Given the description of an element on the screen output the (x, y) to click on. 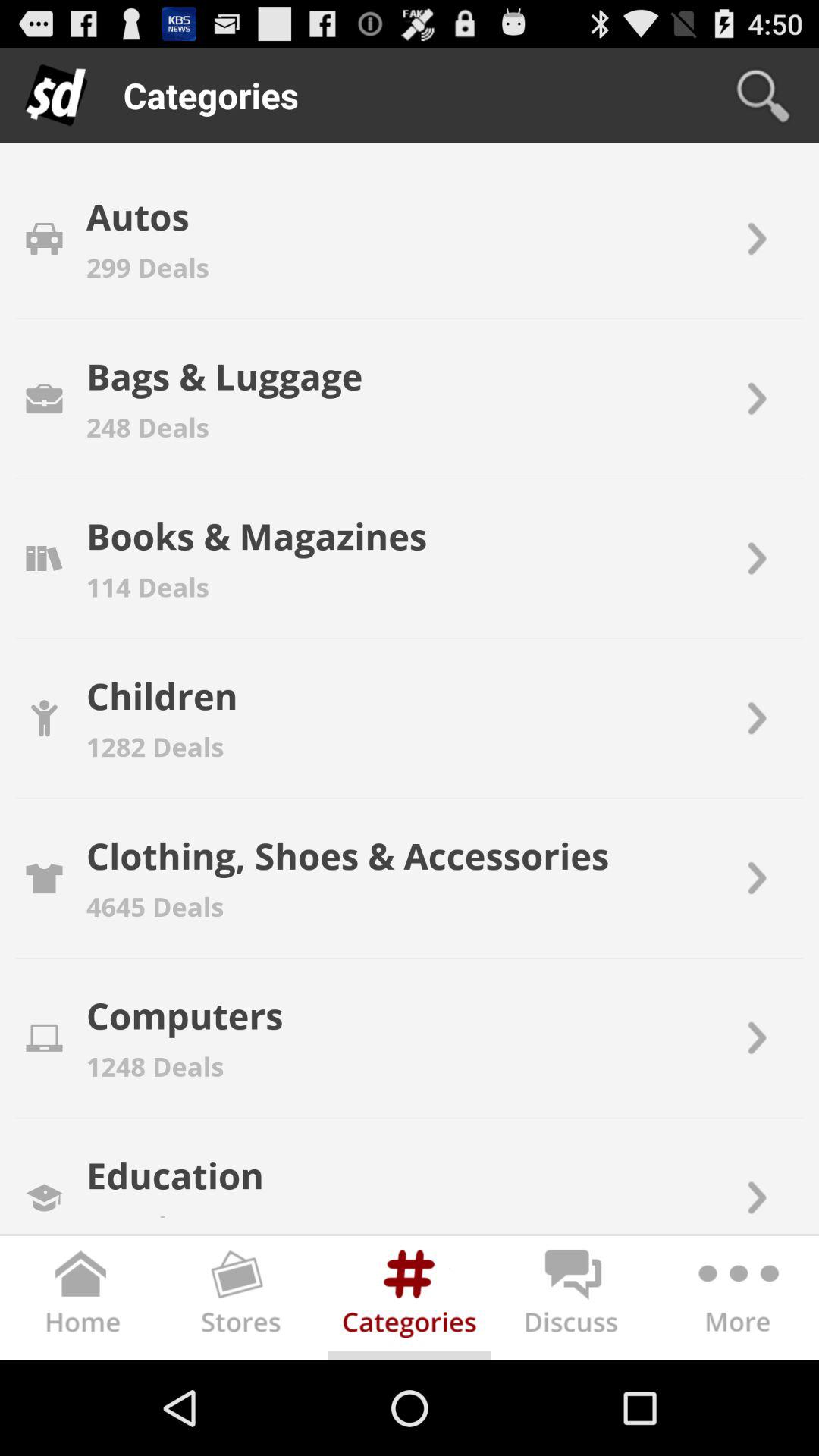
select the item above 1248 deals icon (184, 1015)
